Given the description of an element on the screen output the (x, y) to click on. 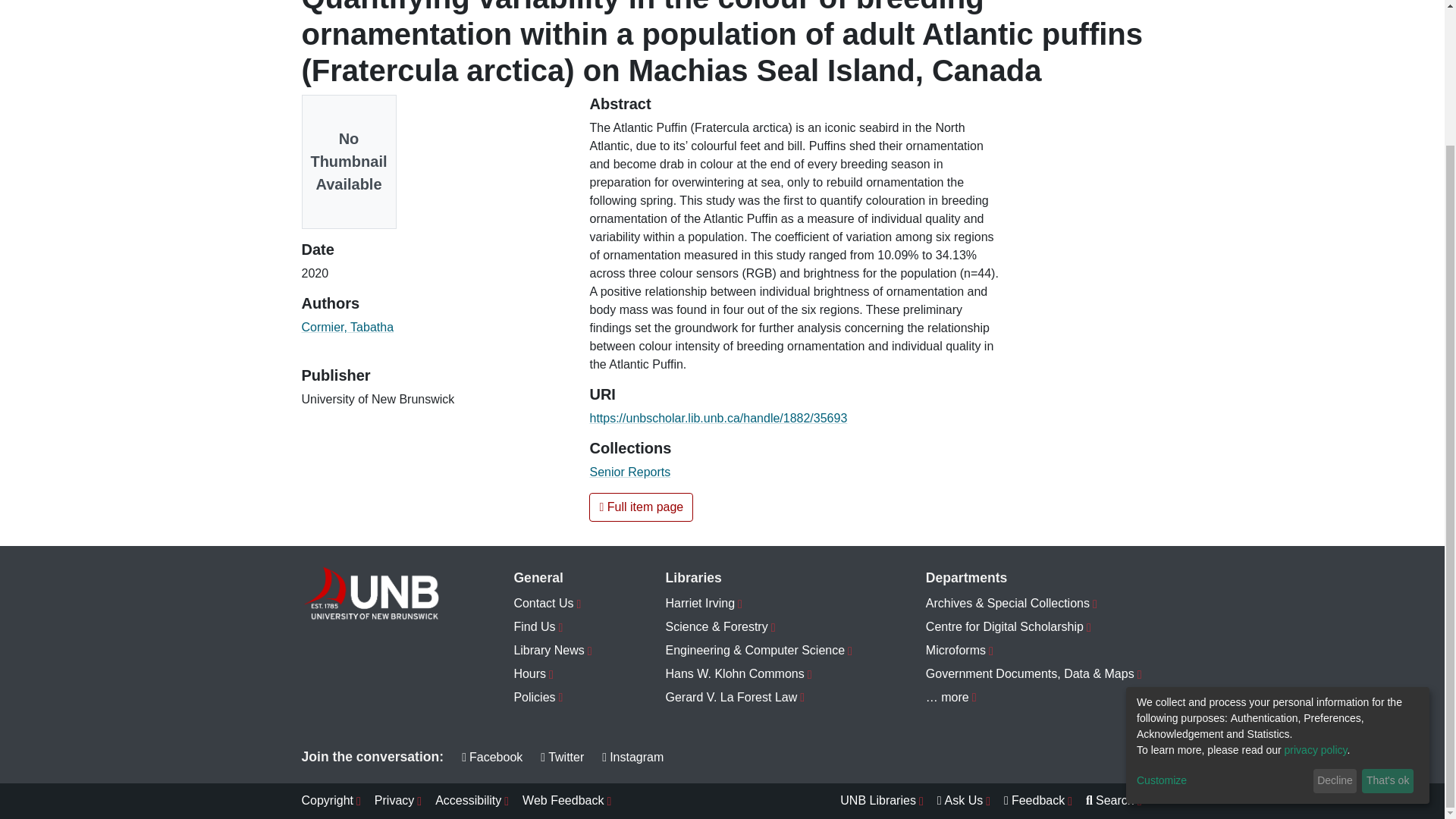
Microforms (1034, 650)
Gerard V. La Forest Law (759, 698)
Hans W. Klohn Commons (759, 674)
Hours (552, 674)
Policies (552, 698)
Find Us (552, 627)
Instagram (632, 757)
Library News (552, 650)
Facebook (491, 757)
Senior Reports (629, 472)
Full item page (641, 507)
Cormier, Tabatha (347, 327)
Contact Us (552, 603)
Twitter (561, 757)
Centre for Digital Scholarship (1034, 627)
